Given the description of an element on the screen output the (x, y) to click on. 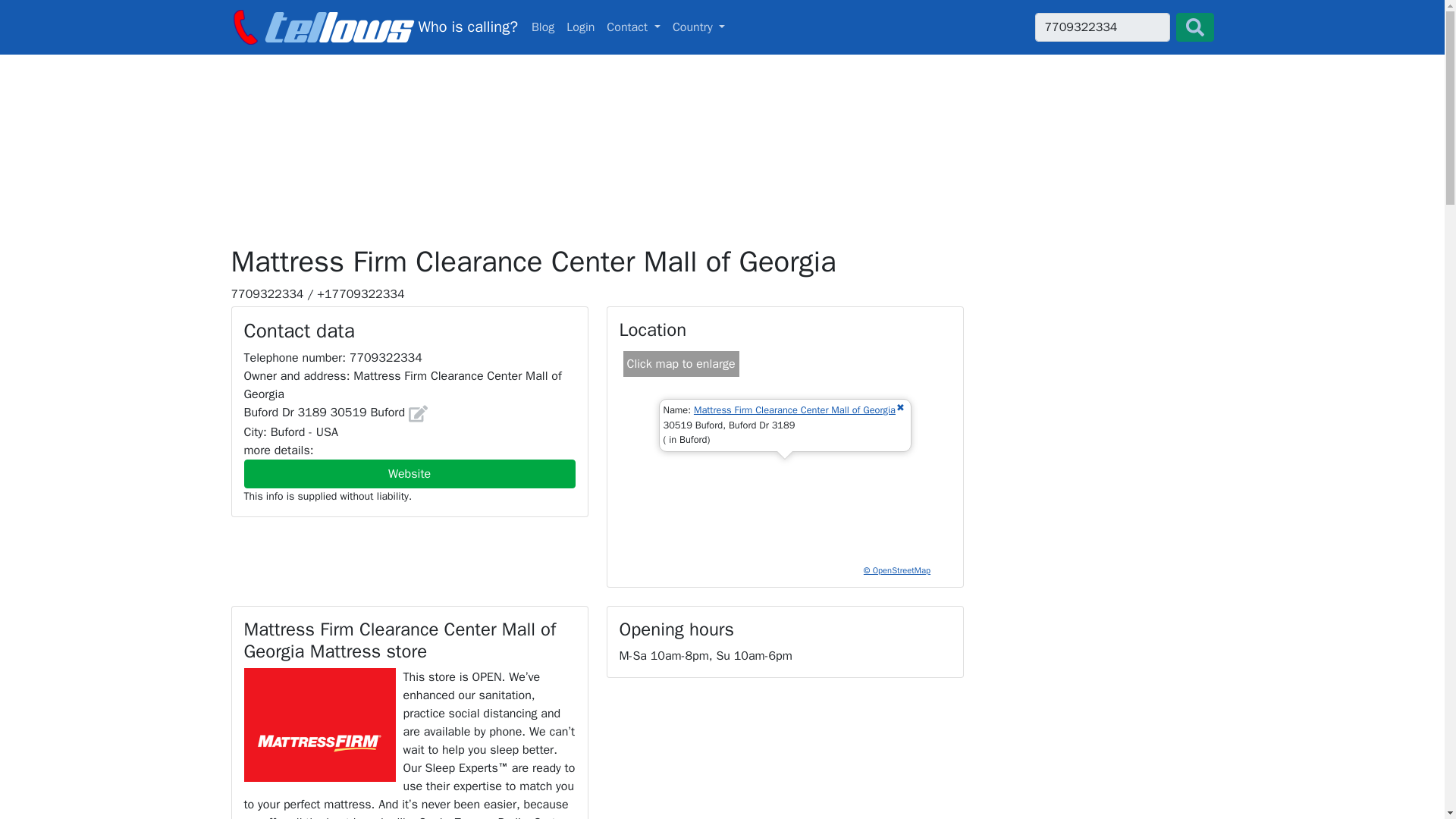
Blog (542, 27)
tellows - the community for calls, phone spam and complaints (373, 26)
Country (699, 27)
Mattress Firm Clearance Center Mall of Georgia (794, 410)
Website (409, 473)
7709322334 (1101, 27)
Blog (542, 27)
Login (579, 27)
Contact (632, 27)
